Given the description of an element on the screen output the (x, y) to click on. 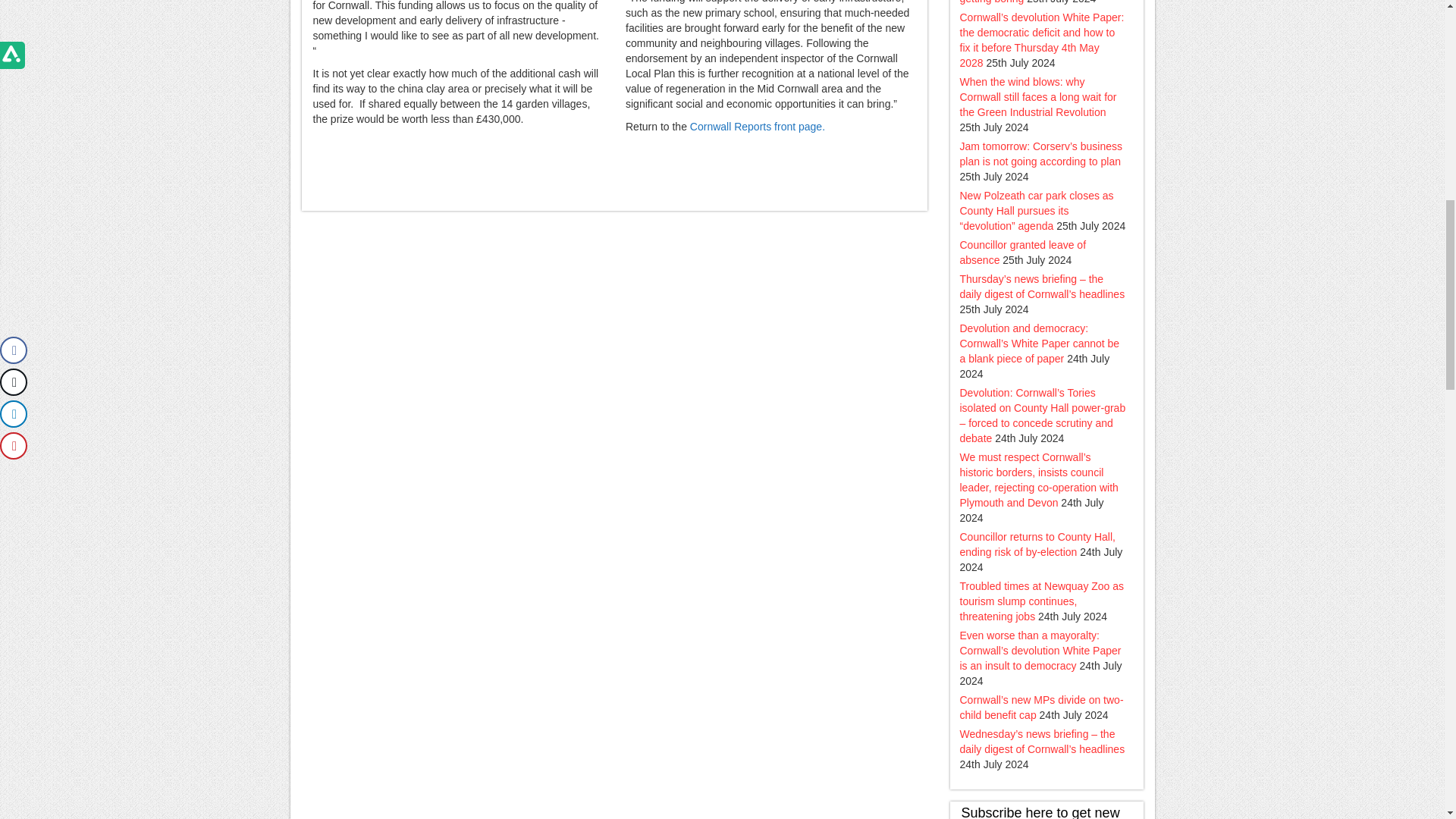
Councillor granted leave of absence (1022, 252)
Cornwall Reports front page. (757, 126)
